Given the description of an element on the screen output the (x, y) to click on. 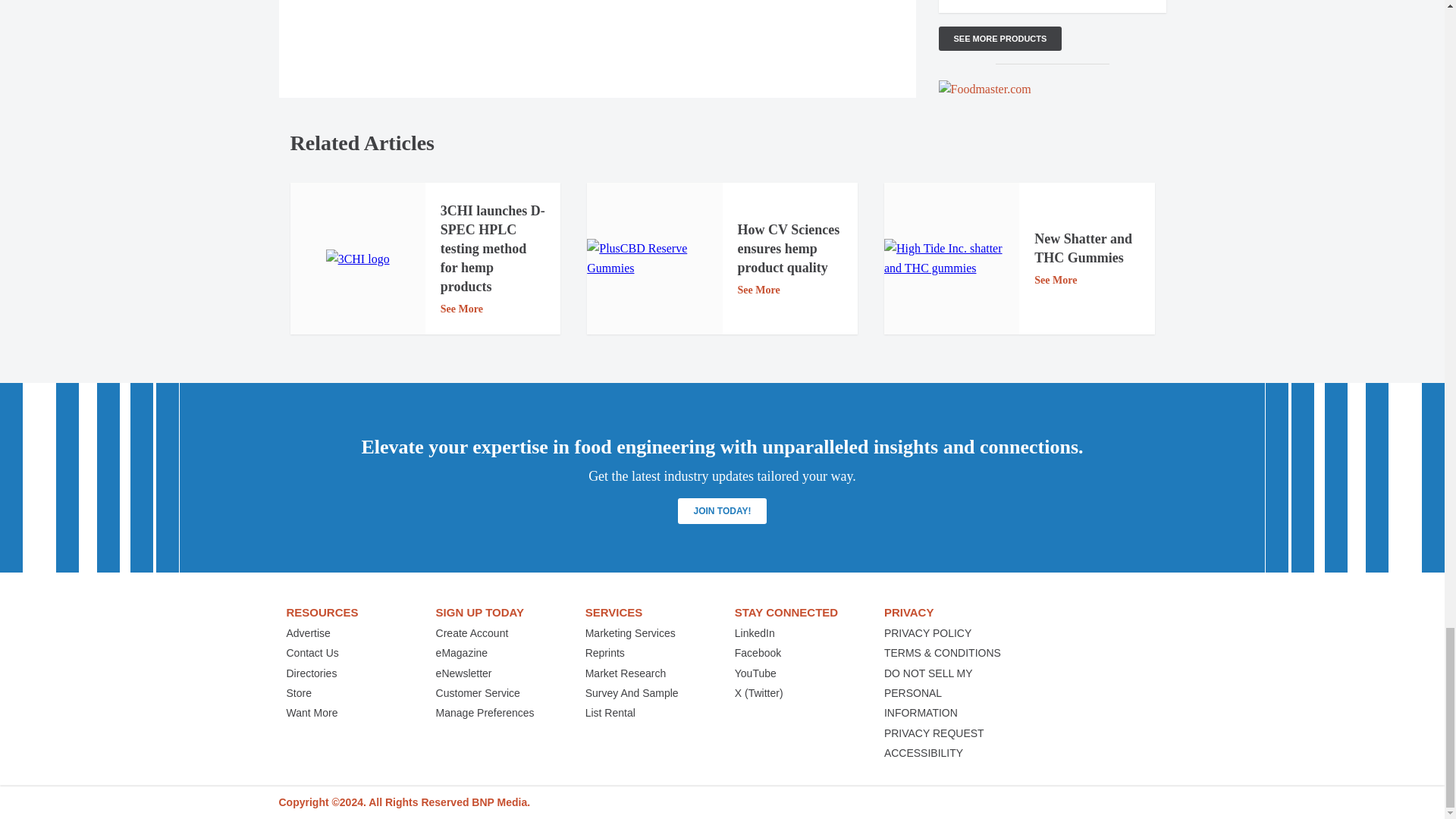
3CHI logo.jpg (358, 259)
PlusCBD Reserve Gummies (654, 259)
High Tide Inc. shatter and THC gummies (951, 259)
